Given the description of an element on the screen output the (x, y) to click on. 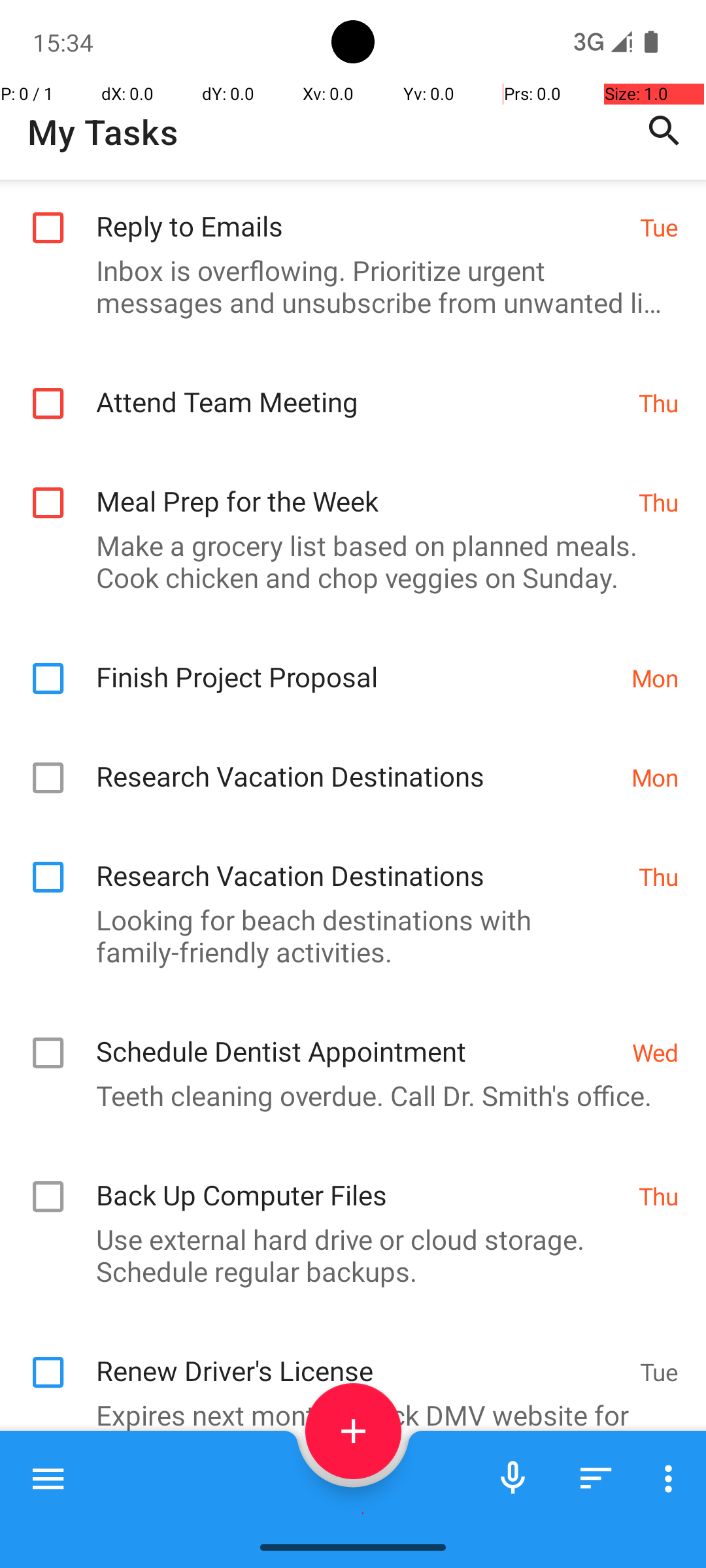
My Tasks Element type: android.widget.TextView (102, 131)
Sort Element type: android.widget.Button (595, 1478)
Create new task Element type: android.widget.ImageButton (353, 1431)
Reply to Emails Element type: android.widget.TextView (361, 211)
Inbox is overflowing. Prioritize urgent messages and unsubscribe from unwanted lists. Element type: android.widget.TextView (346, 285)
Tue Element type: android.widget.TextView (659, 226)
Attend Team Meeting Element type: android.widget.TextView (360, 387)
Thu Element type: android.widget.TextView (658, 402)
Meal Prep for the Week Element type: android.widget.TextView (360, 486)
Make a grocery list based on planned meals. Cook chicken and chop veggies on Sunday. Element type: android.widget.TextView (346, 560)
Finish Project Proposal Element type: android.widget.TextView (356, 662)
Mon Element type: android.widget.TextView (654, 677)
Research Vacation Destinations Element type: android.widget.TextView (356, 761)
Looking for beach destinations with family-friendly activities. Element type: android.widget.TextView (346, 935)
Schedule Dentist Appointment Element type: android.widget.TextView (357, 1036)
Teeth cleaning overdue. Call Dr. Smith's office. Element type: android.widget.TextView (346, 1094)
Wed Element type: android.widget.TextView (655, 1051)
Back Up Computer Files Element type: android.widget.TextView (360, 1180)
Use external hard drive or cloud storage. Schedule regular backups. Element type: android.widget.TextView (346, 1254)
Renew Driver's License Element type: android.widget.TextView (361, 1356)
Expires next month. Check DMV website for requirements. Element type: android.widget.TextView (346, 1430)
Sat Element type: android.widget.TextView (661, 1514)
